Given the description of an element on the screen output the (x, y) to click on. 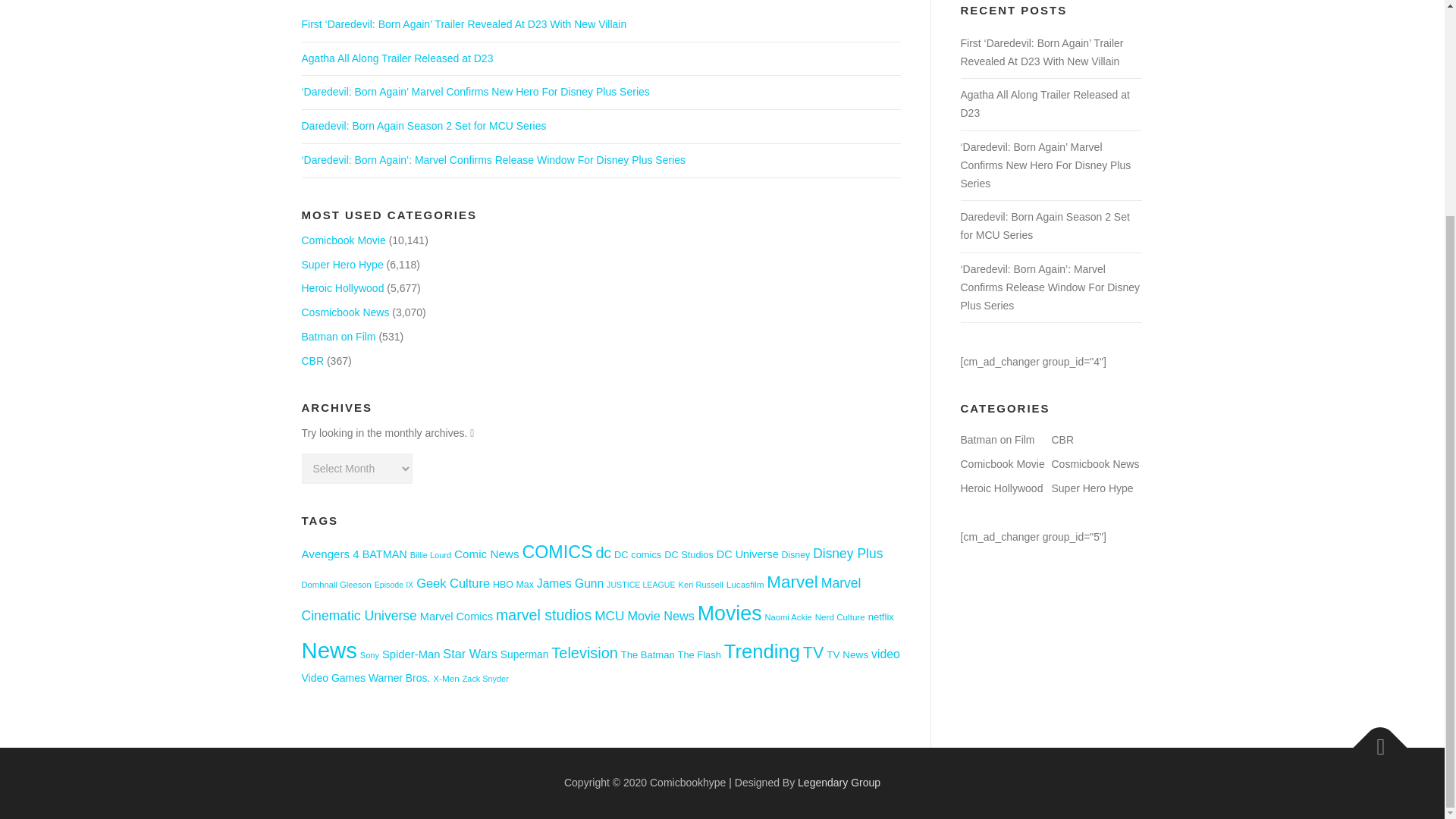
Billie Lourd (430, 554)
DC Universe (747, 553)
HBO Max (513, 584)
Super Hero Hype (342, 264)
Domhnall Gleeson (336, 583)
Comic News (486, 553)
DC comics (637, 554)
Back To Top (1372, 740)
dc (603, 552)
CBR (312, 360)
